Given the description of an element on the screen output the (x, y) to click on. 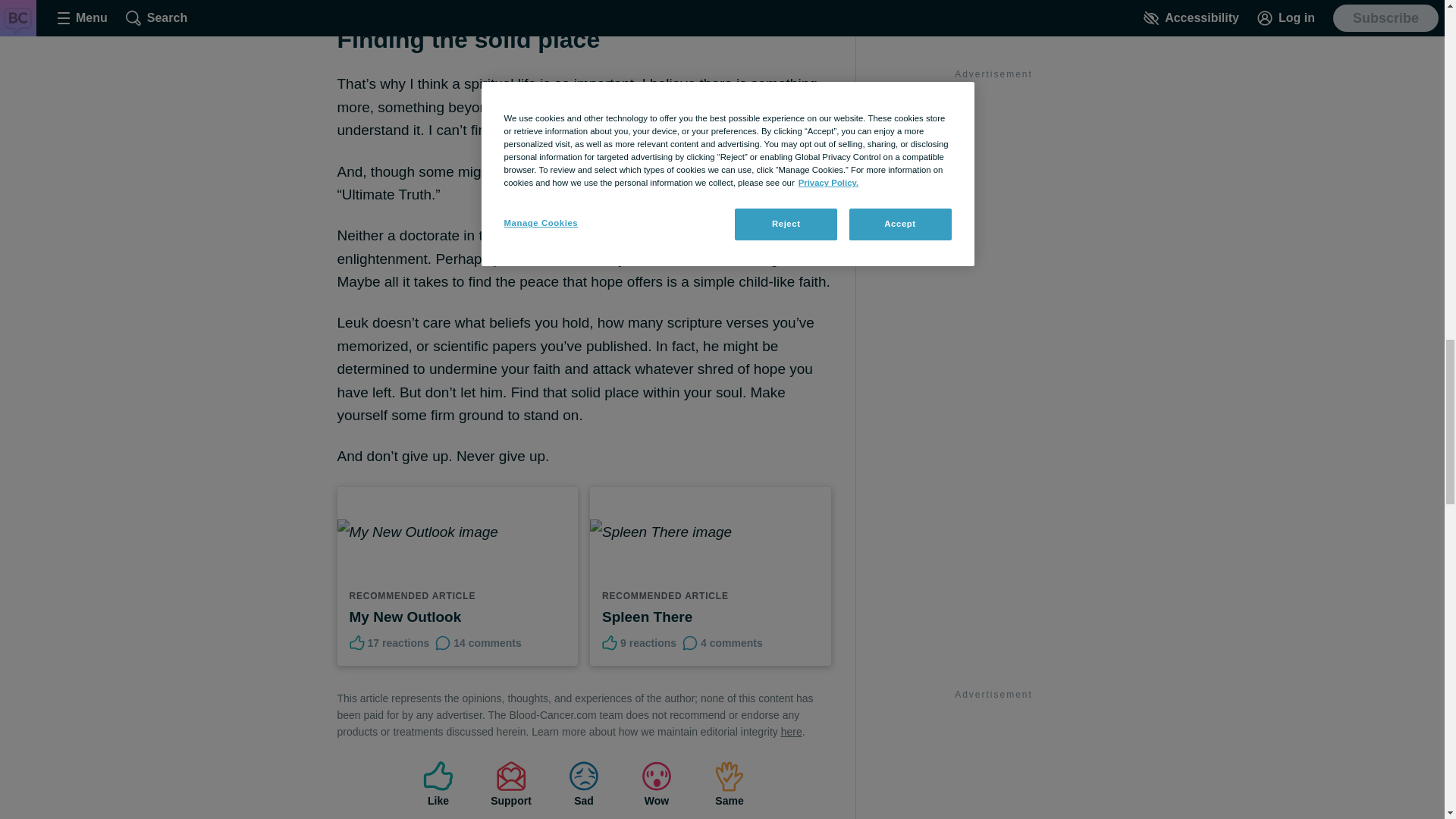
Reactions (356, 642)
Reactions (609, 642)
3rd party ad content (992, 762)
Comments (442, 642)
3rd party ad content (992, 56)
Comments (689, 642)
